Given the description of an element on the screen output the (x, y) to click on. 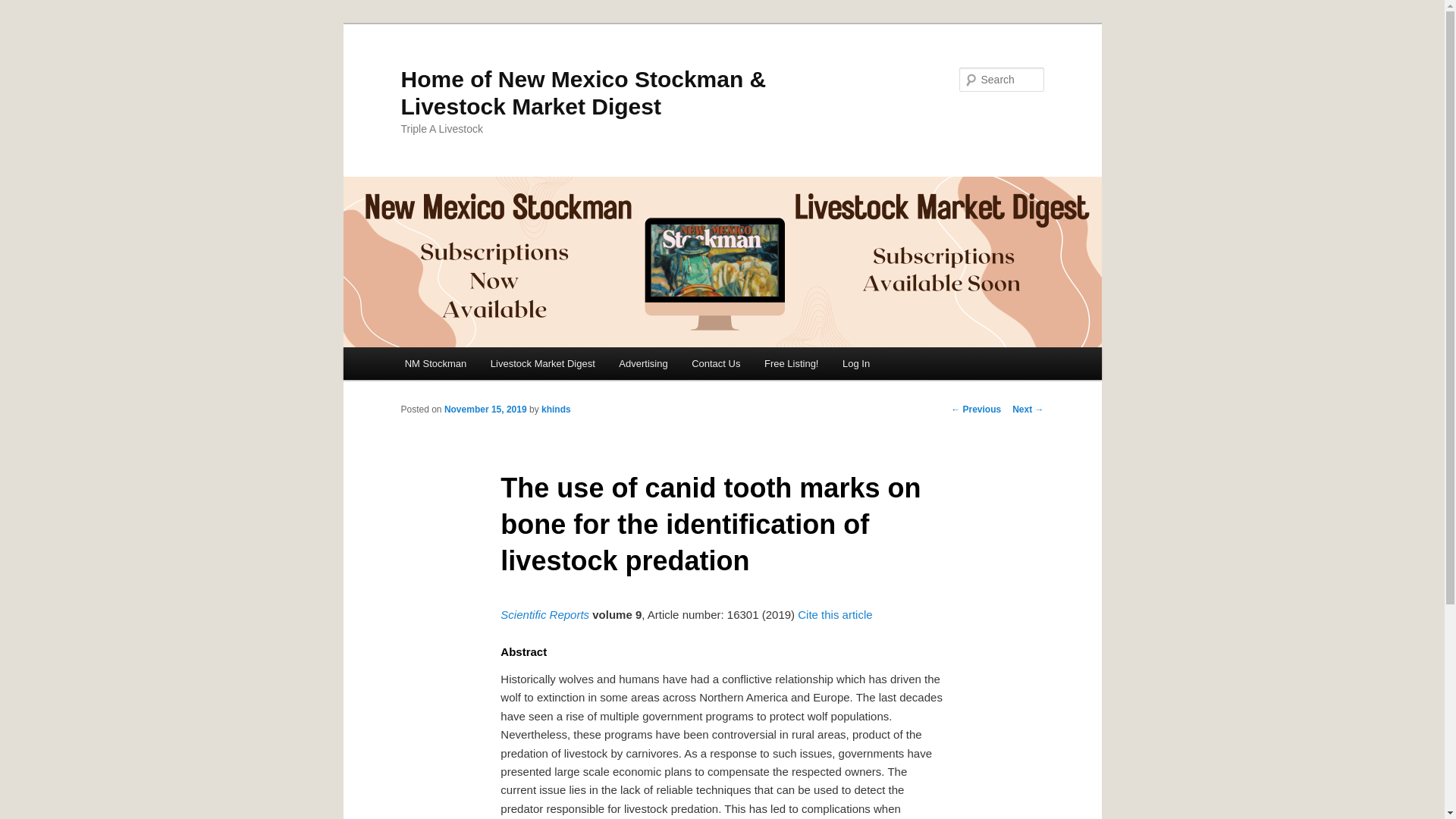
NM Stockman (436, 363)
khinds (555, 409)
Search (24, 8)
Free Listing! (790, 363)
Cite this article (834, 614)
9:59 am (485, 409)
Log In (855, 363)
Scientific Reports (544, 614)
November 15, 2019 (485, 409)
Contact Us (715, 363)
View all posts by khinds (555, 409)
Advertising (643, 363)
Livestock Market Digest (543, 363)
